Given the description of an element on the screen output the (x, y) to click on. 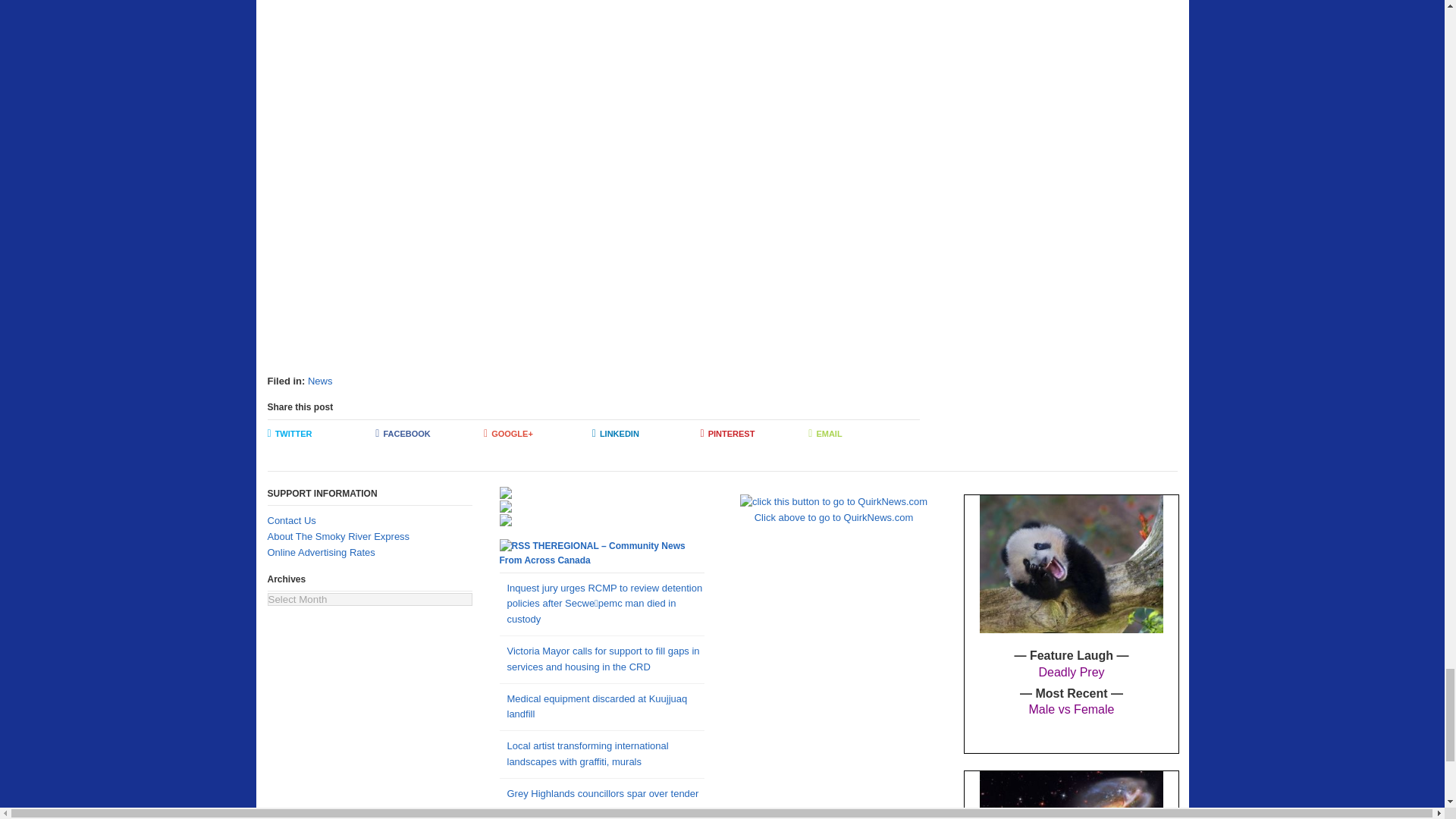
EMAIL (862, 434)
PINTEREST (754, 434)
LINKEDIN (646, 434)
TWITTER (320, 434)
FACEBOOK (429, 434)
News (320, 380)
